Given the description of an element on the screen output the (x, y) to click on. 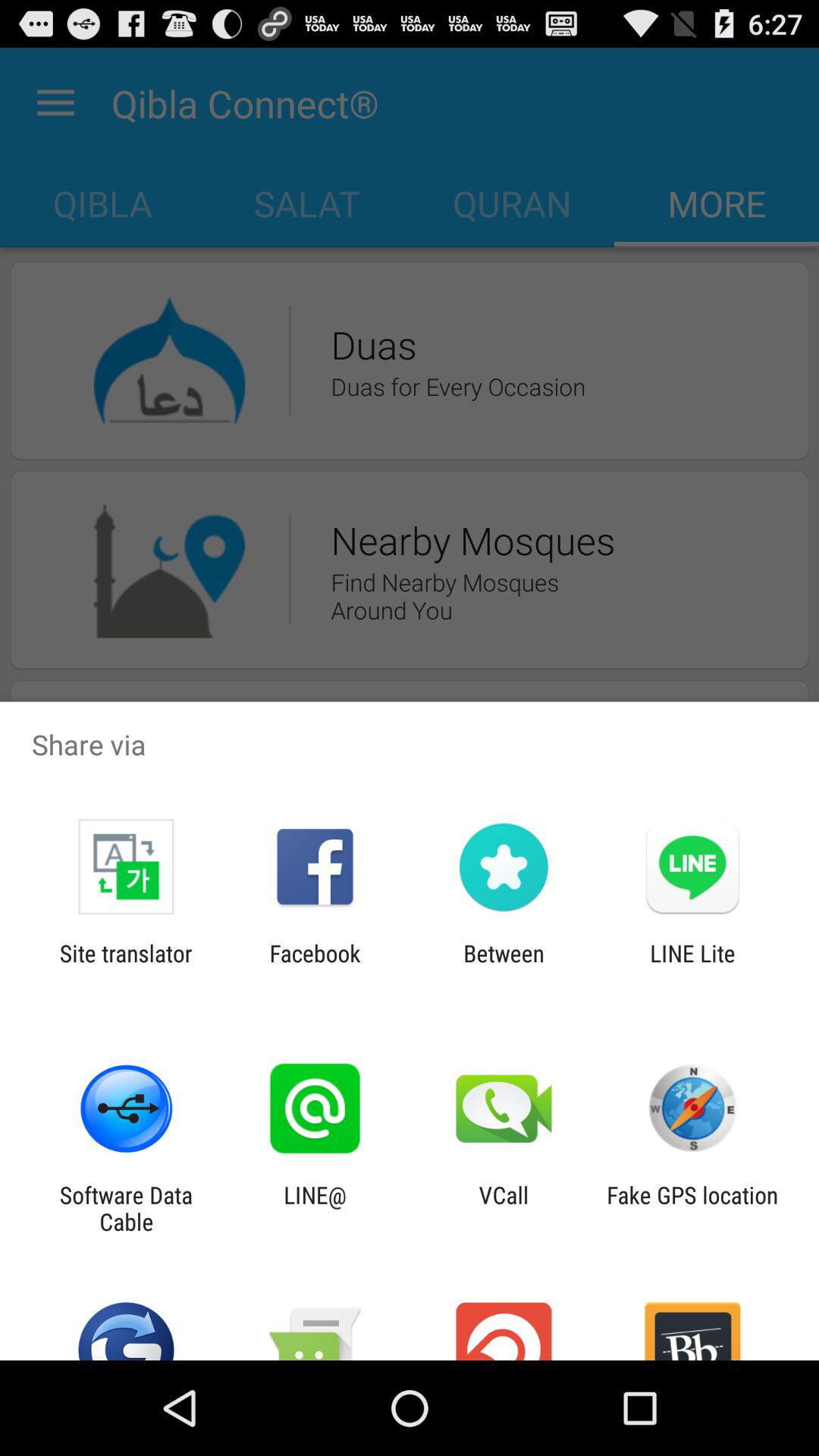
flip to the software data cable icon (125, 1208)
